Given the description of an element on the screen output the (x, y) to click on. 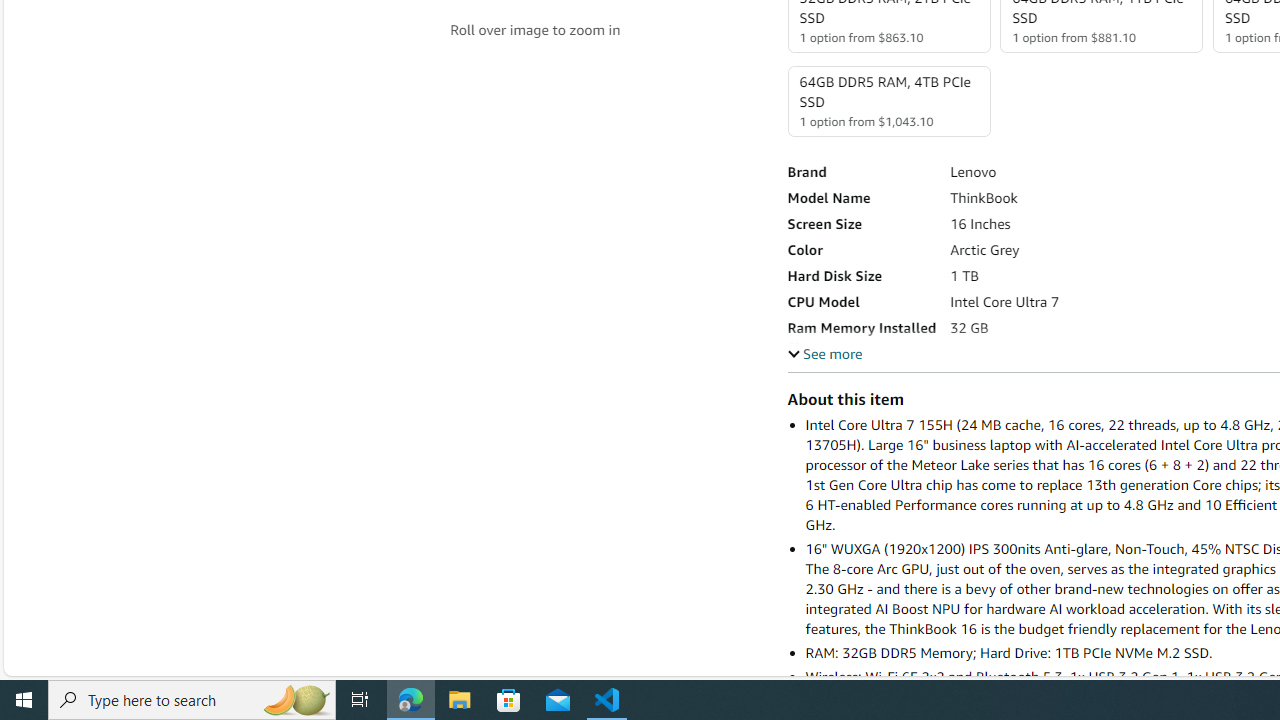
64GB DDR5 RAM, 4TB PCIe SSD 1 option from $1,043.10 (888, 101)
